Given the description of an element on the screen output the (x, y) to click on. 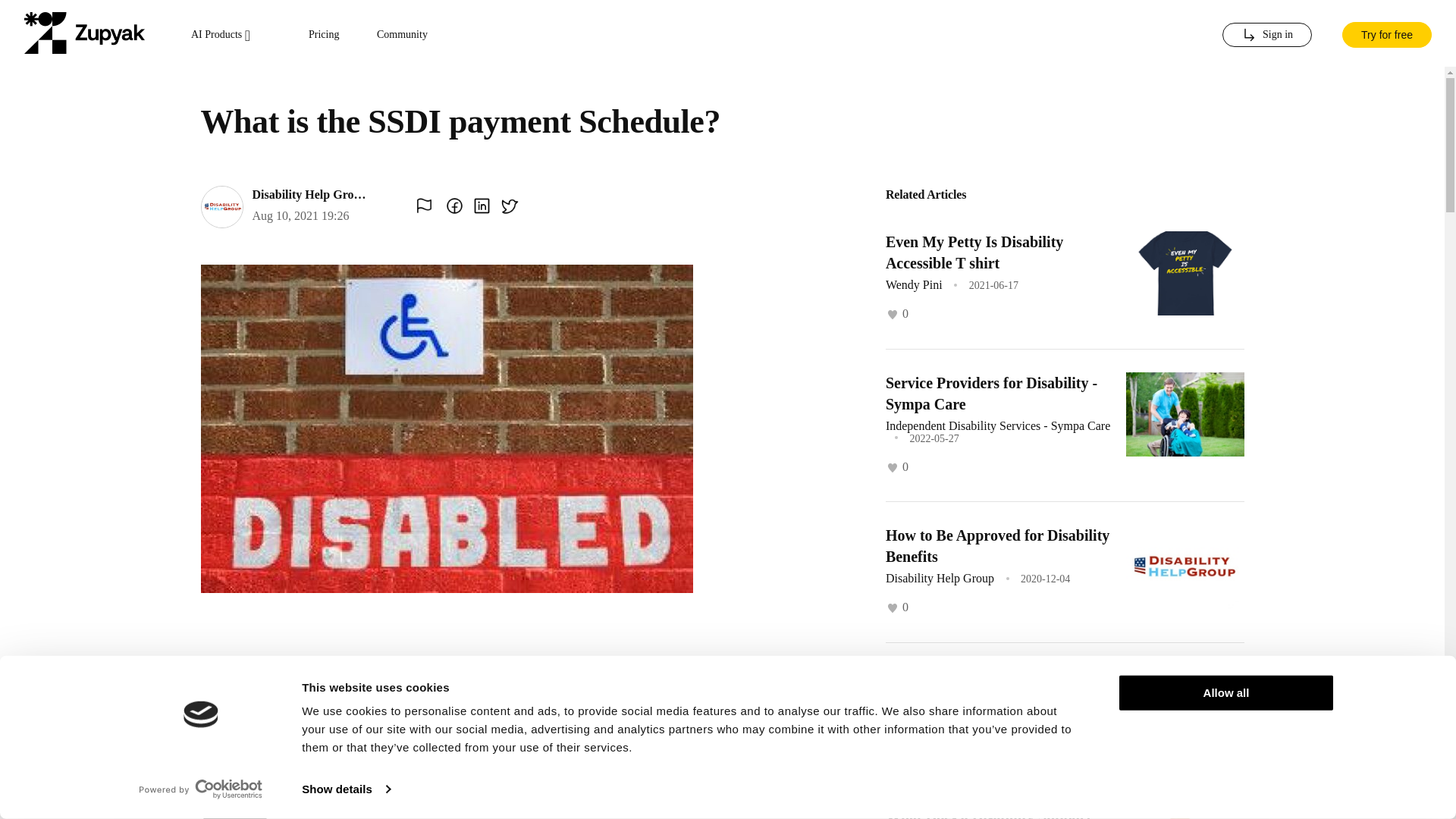
Even My Petty Is Disability Accessible T shirt (973, 252)
Show details (345, 789)
Queensland Disability Support Services (984, 686)
How to Be Approved for Disability Benefits (997, 546)
What Does a Disability Support Worker Do? (987, 813)
Service Providers for Disability - Sympa Care (991, 393)
